Given the description of an element on the screen output the (x, y) to click on. 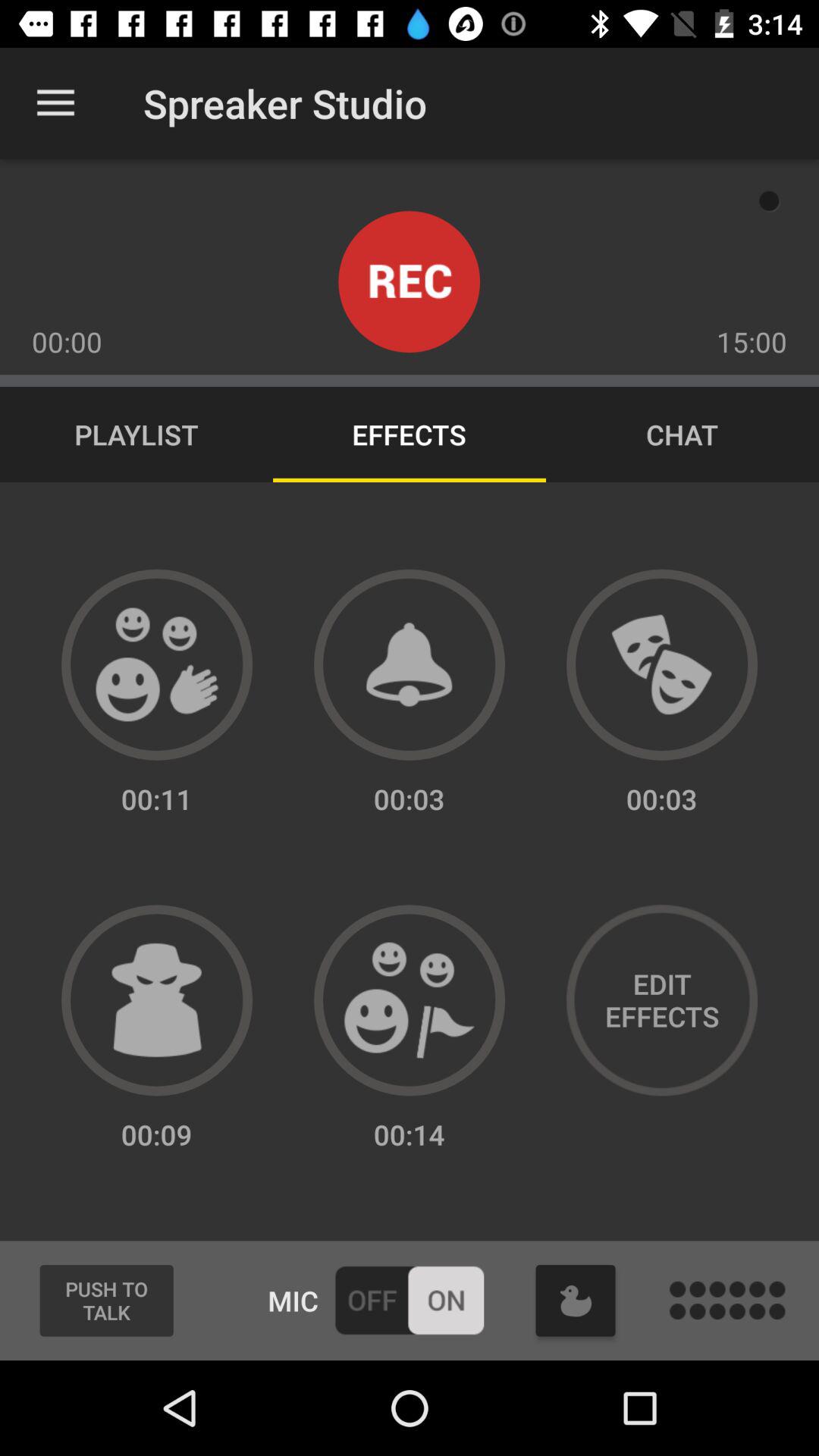
press to record (409, 281)
